Given the description of an element on the screen output the (x, y) to click on. 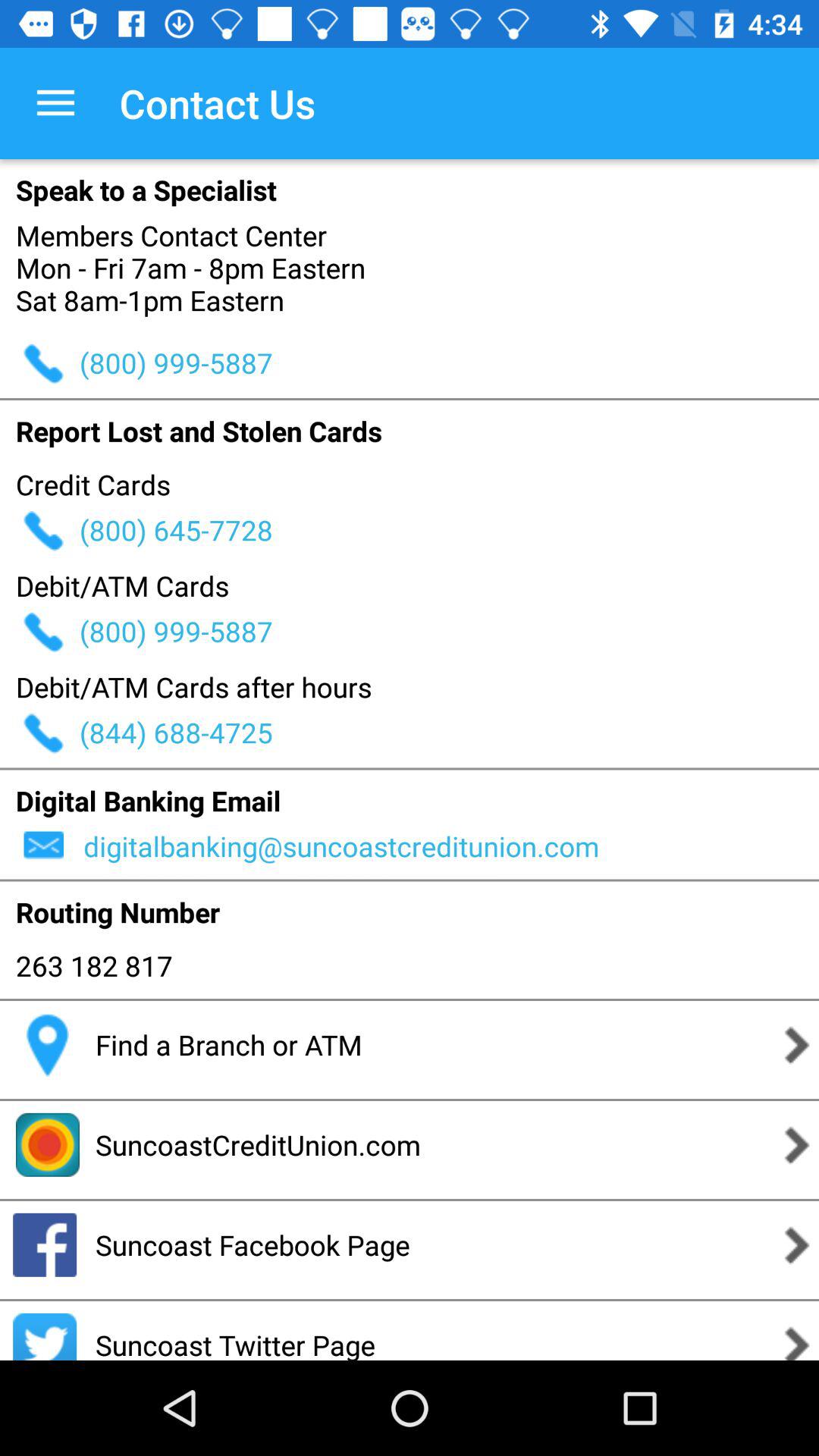
press the icon below the credit cards item (449, 529)
